Given the description of an element on the screen output the (x, y) to click on. 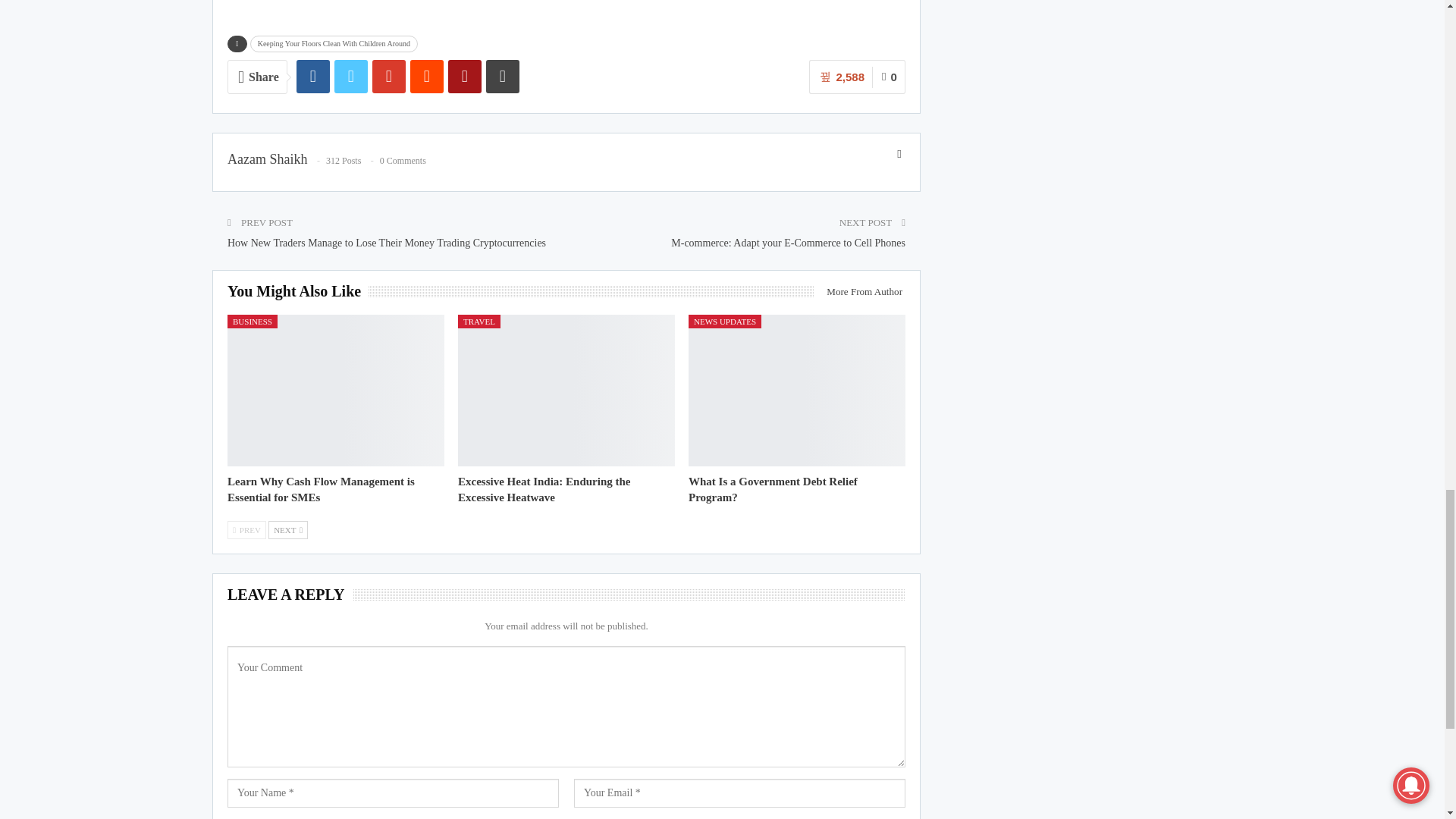
What Is a Government Debt Relief Program? (796, 390)
0 (888, 76)
Learn Why Cash Flow Management is Essential for SMEs (335, 390)
Excessive Heat India: Enduring the Excessive Heatwave (566, 390)
Excessive Heat India: Enduring the Excessive Heatwave (544, 489)
Learn Why Cash Flow Management is Essential for SMEs (320, 489)
Keeping Your Floors Clean With Children Around (333, 44)
What Is a Government Debt Relief Program? (772, 489)
